Given the description of an element on the screen output the (x, y) to click on. 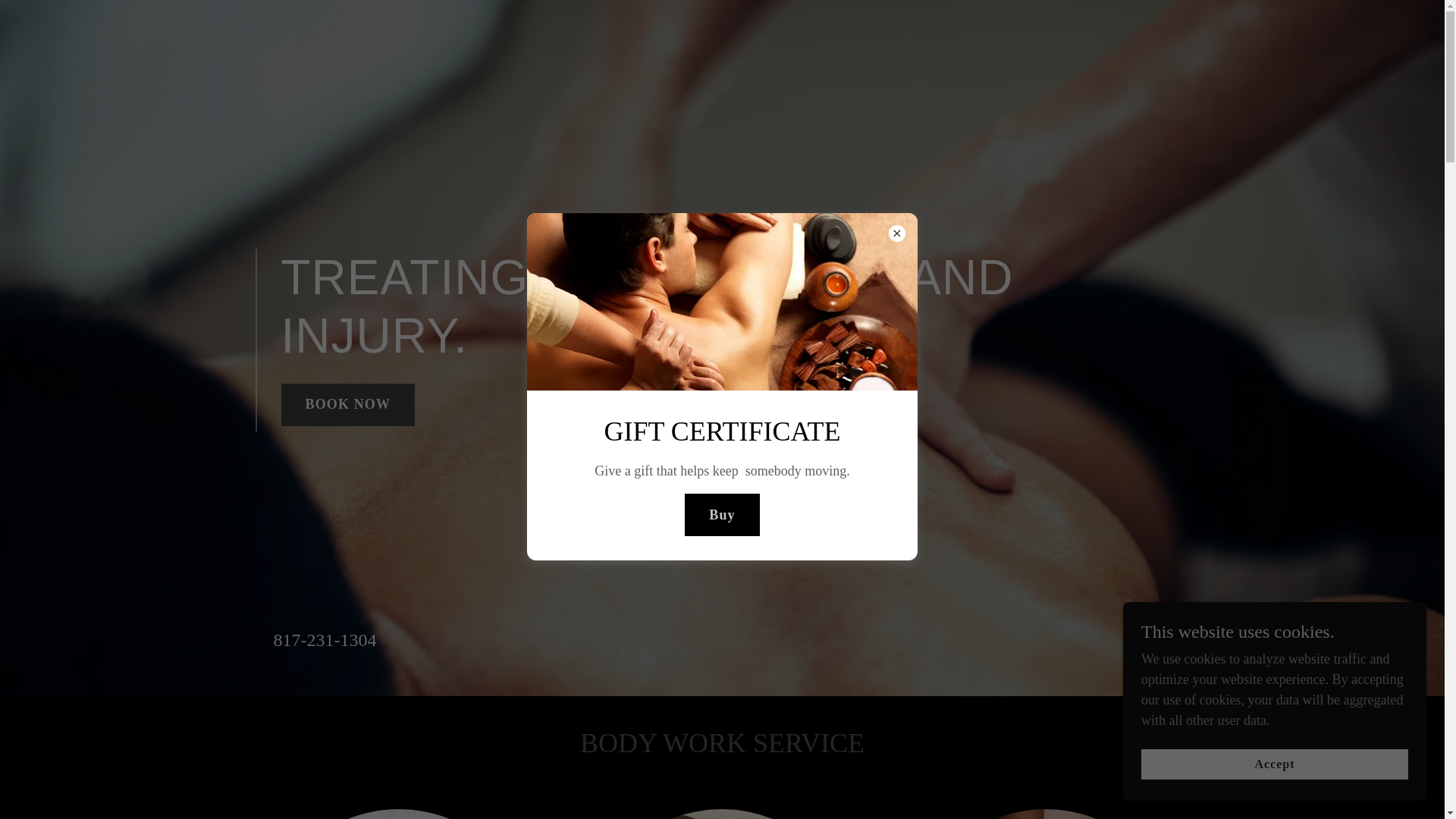
Buy (721, 514)
Accept (1274, 764)
BOOK NOW (347, 404)
817-231-1304 (324, 639)
